Given the description of an element on the screen output the (x, y) to click on. 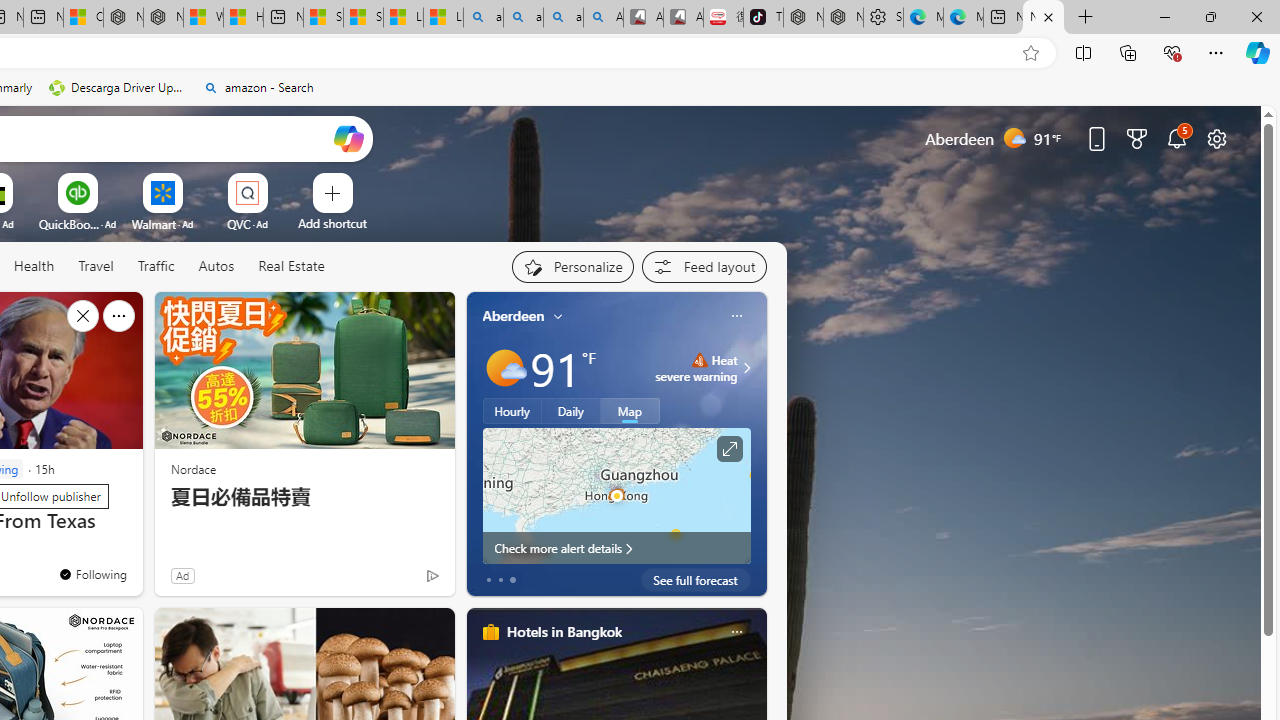
You're following The Weather Channel (390, 579)
Class: weather-arrow-glyph (746, 367)
Click to see more information (728, 449)
Larger map  (616, 495)
Autos (216, 267)
Check more alert details (616, 547)
amazon - Search Images (563, 17)
Add a site (332, 223)
